Given the description of an element on the screen output the (x, y) to click on. 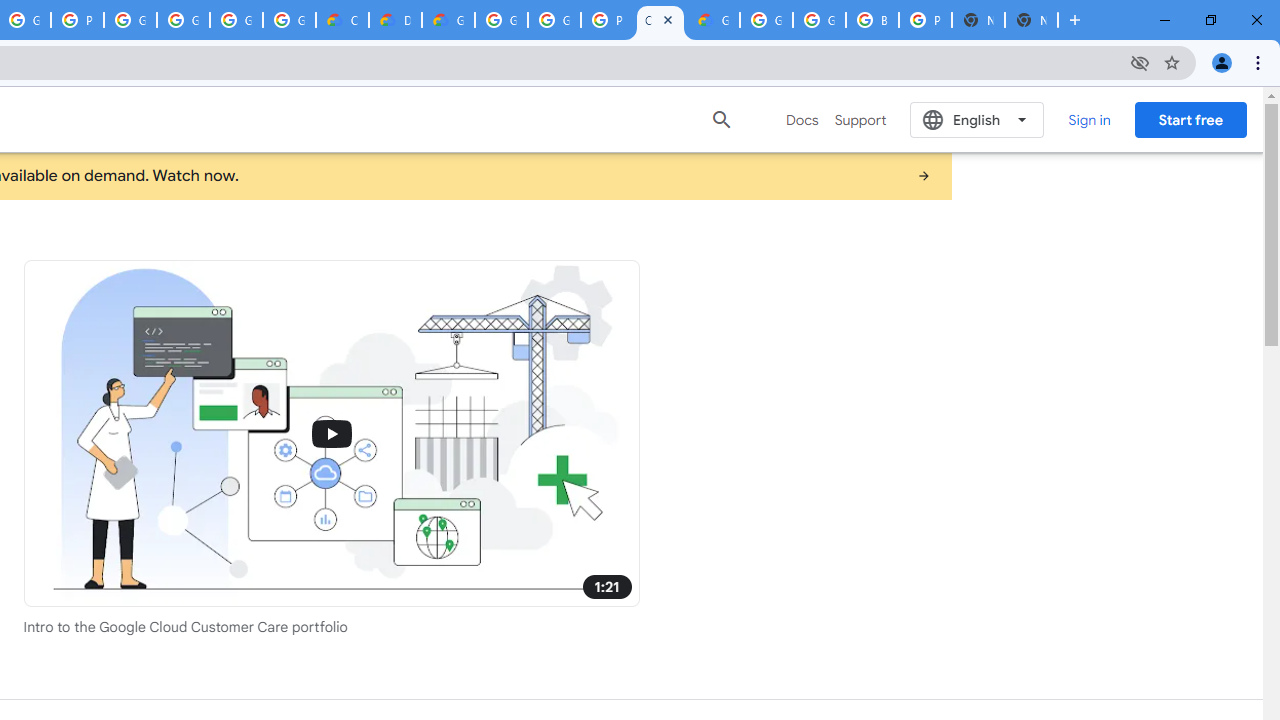
Gemini for Business and Developers | Google Cloud (448, 20)
